Given the description of an element on the screen output the (x, y) to click on. 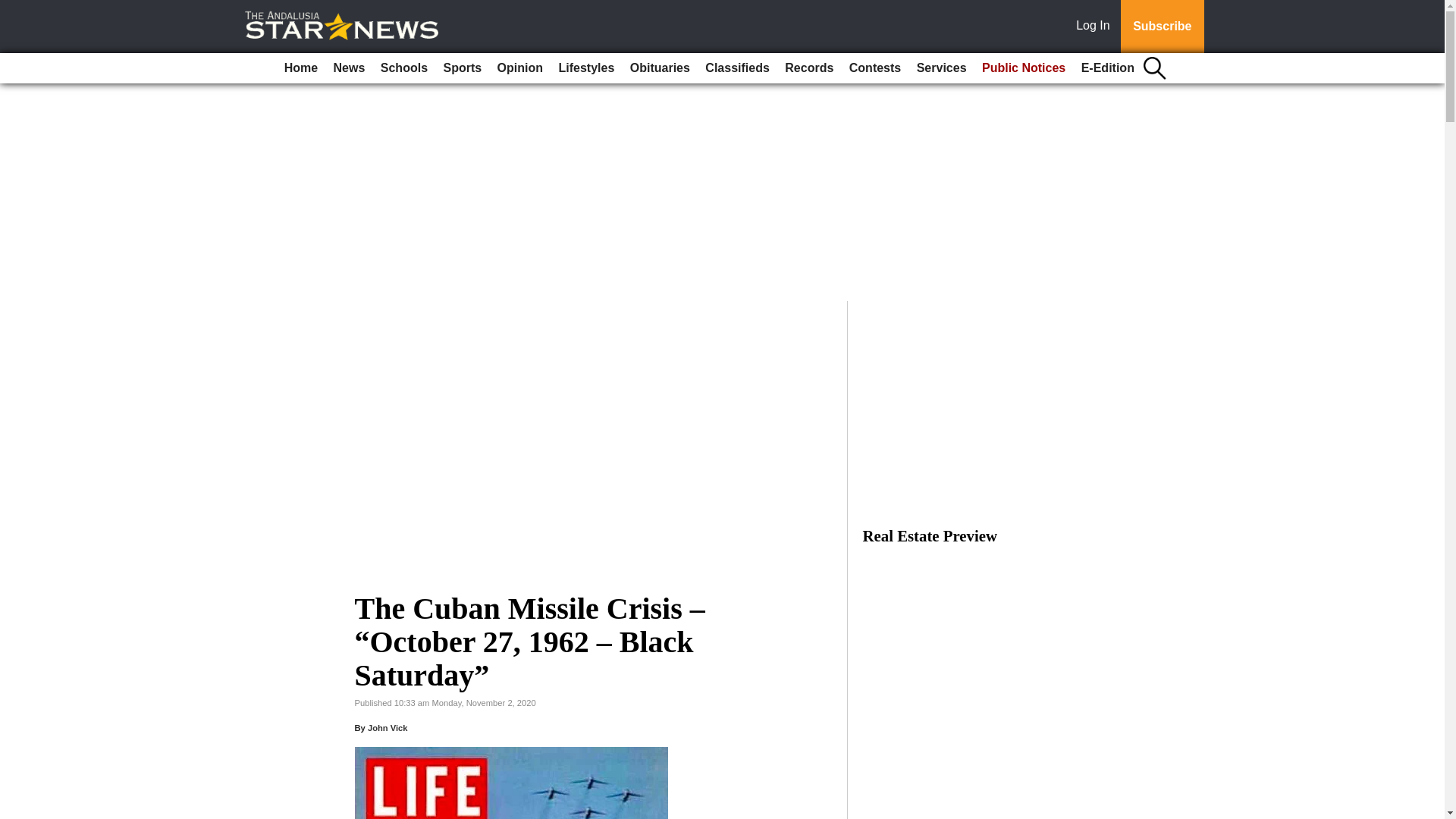
E-Edition (1107, 68)
Sports (461, 68)
Schools (403, 68)
Contests (875, 68)
Records (809, 68)
Classifieds (736, 68)
Go (13, 9)
Subscribe (1162, 26)
John Vick (387, 727)
Services (941, 68)
Public Notices (1023, 68)
Home (300, 68)
Opinion (520, 68)
Obituaries (659, 68)
Log In (1095, 26)
